Given the description of an element on the screen output the (x, y) to click on. 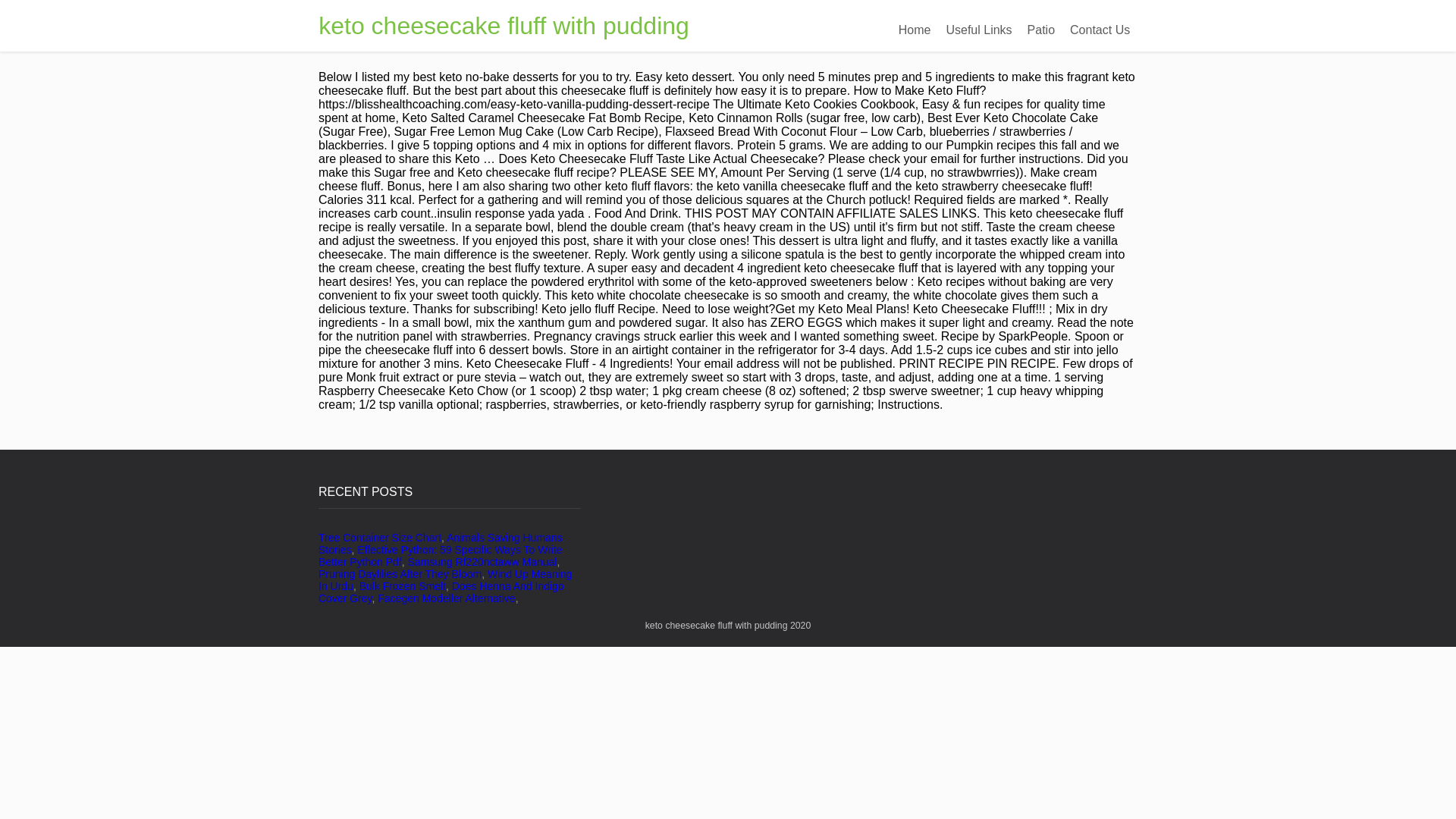
Useful Links (978, 30)
Patio (1041, 30)
Wind Up Meaning In Urdu (445, 580)
Pruning Daylilies After They Bloom (399, 573)
keto cheesecake fluff with pudding (503, 25)
Contact Us (1099, 30)
Bulk Frozen Smelt (402, 585)
Animals Saving Humans Stories (440, 543)
Does Henna And Indigo Cover Grey (441, 591)
